Given the description of an element on the screen output the (x, y) to click on. 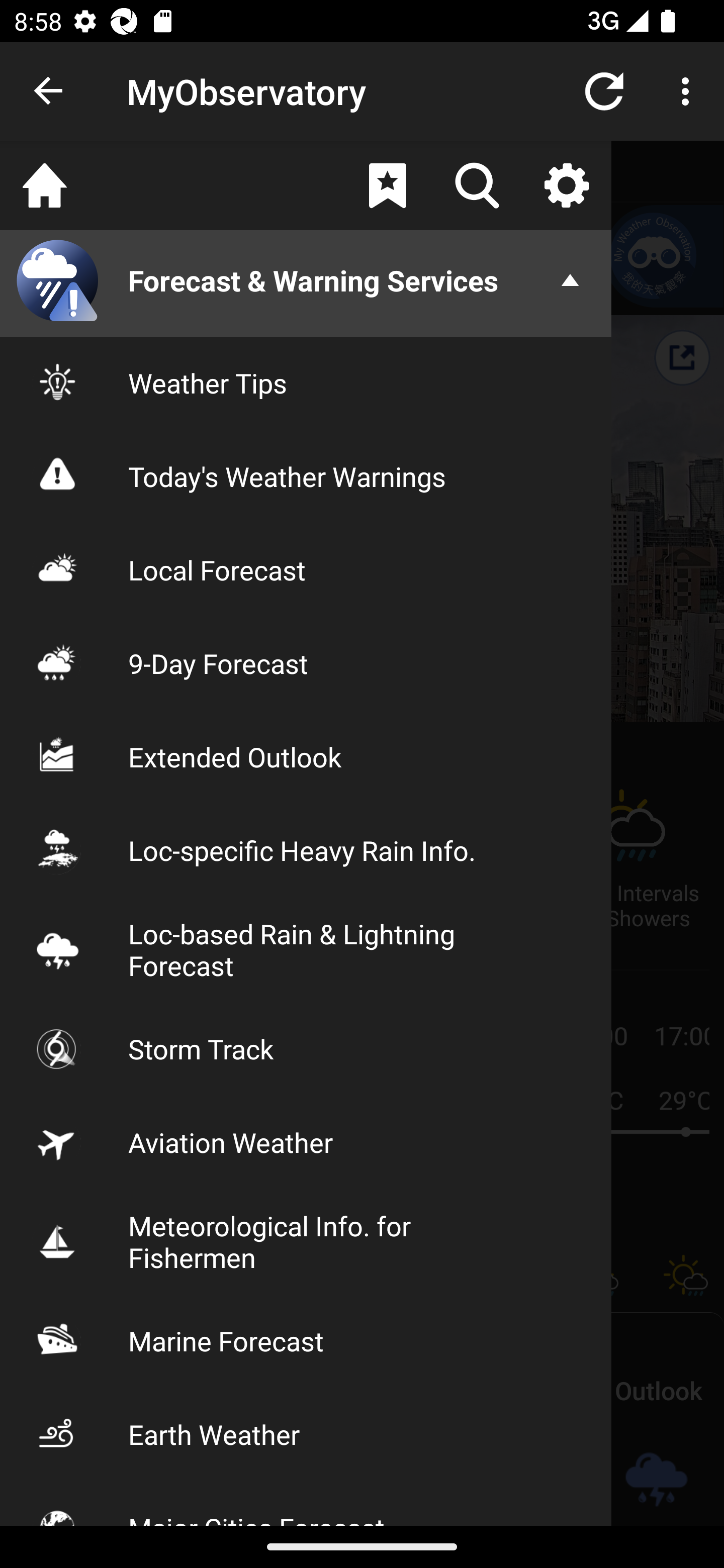
Navigate up (49, 91)
Refresh (604, 90)
More options (688, 90)
Homepage (44, 185)
Bookmark Manager (387, 185)
Search Unselected (477, 185)
Settings (566, 185)
Weather Tips (305, 382)
Today's Weather Warnings (305, 475)
Local Forecast (305, 569)
9-Day Forecast (305, 662)
Extended Outlook (305, 756)
Loc-specific Heavy Rain Info. (305, 850)
Loc-based Rain & Lightning Forecast (305, 949)
Storm Track (305, 1048)
Aviation Weather (305, 1142)
Meteorological Info. for Fishermen (305, 1241)
Marine Forecast (305, 1340)
Earth Weather (305, 1433)
